Given the description of an element on the screen output the (x, y) to click on. 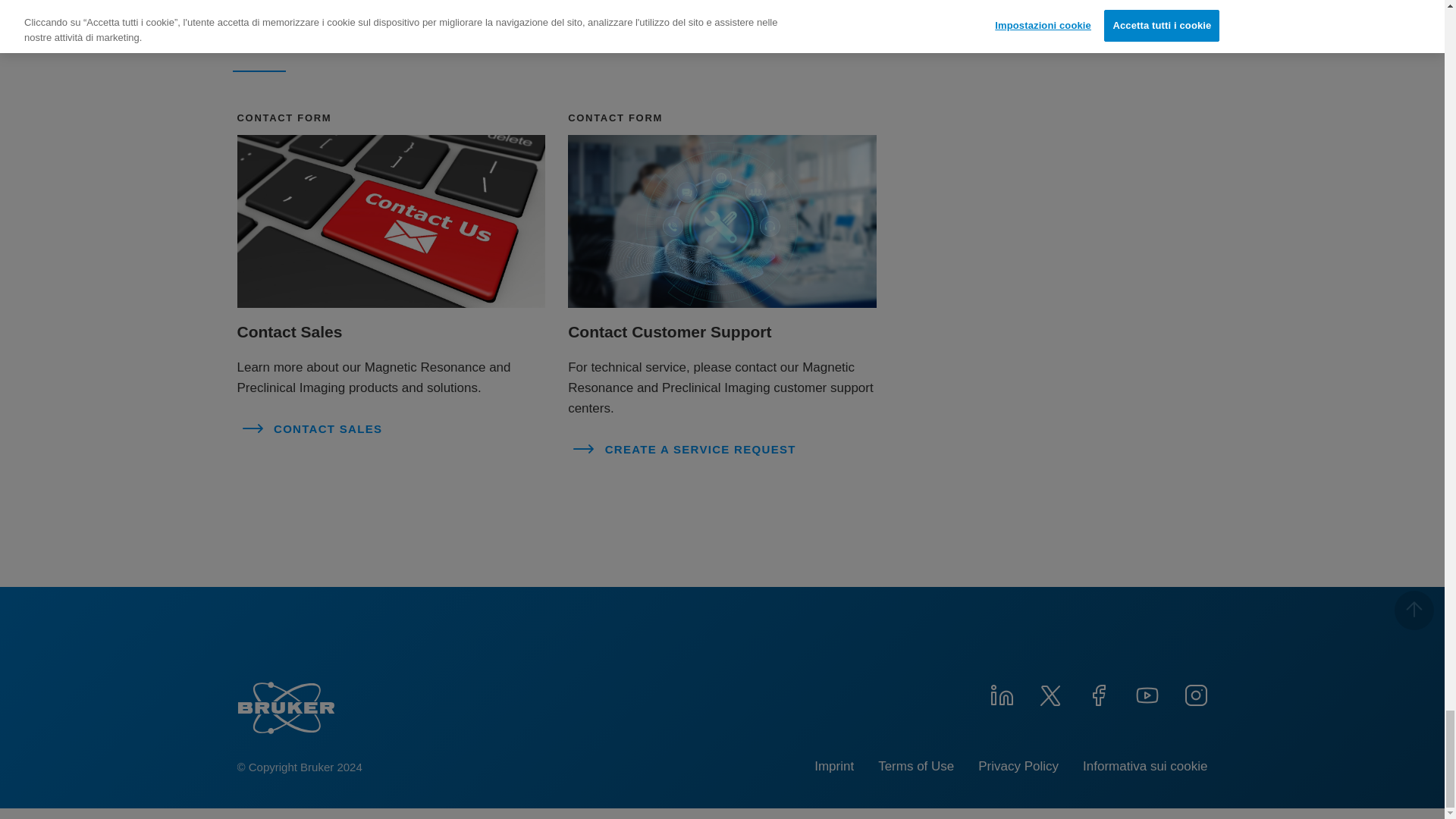
youtube (1146, 693)
linkedin (1000, 693)
twitter (1048, 693)
instagram (1194, 693)
facebook (1097, 693)
